Given the description of an element on the screen output the (x, y) to click on. 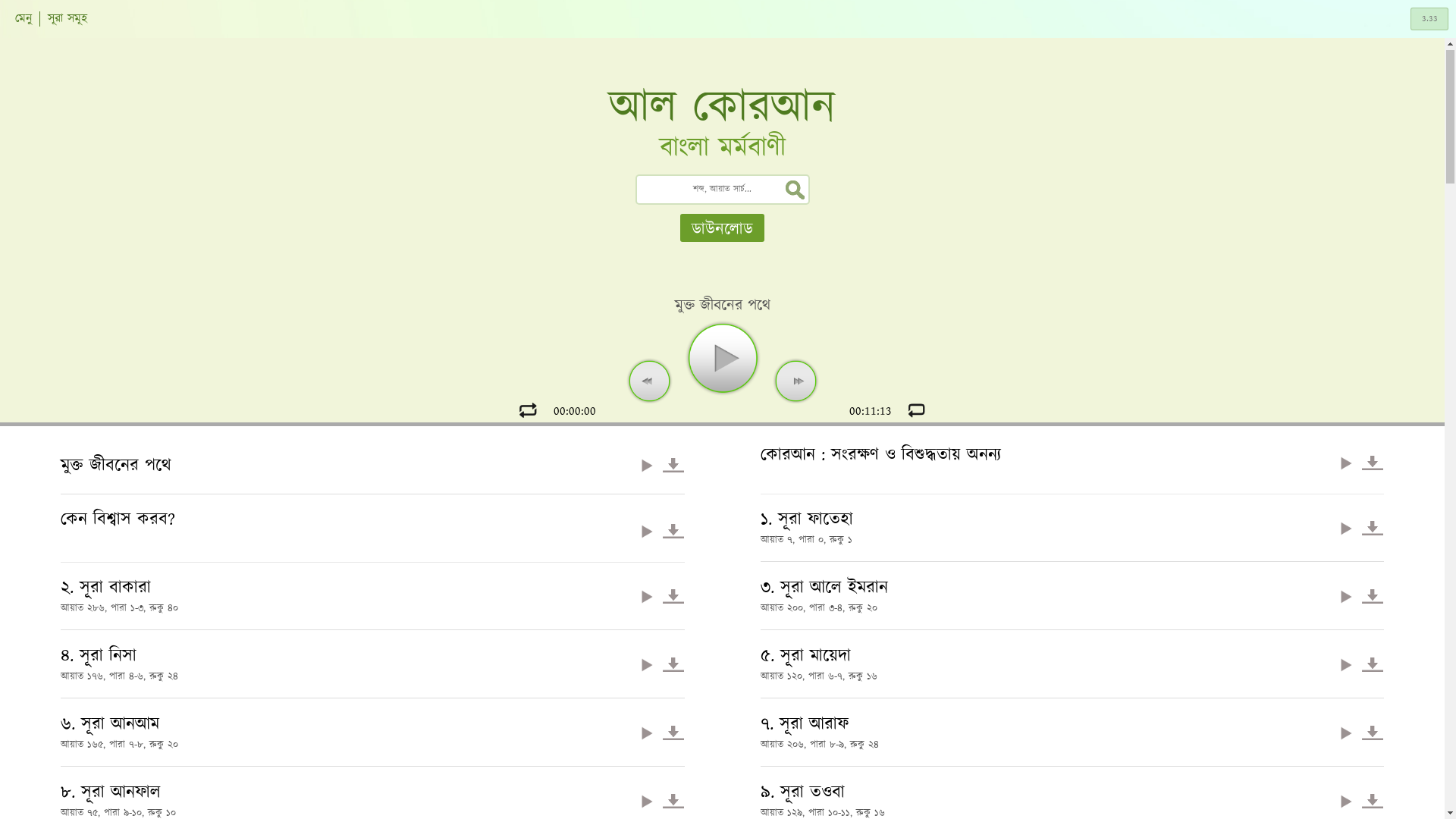
Download Element type: hover (672, 664)
Download Element type: hover (1372, 800)
Play Element type: hover (646, 664)
Play Element type: hover (1345, 800)
Download Element type: hover (1372, 732)
Play Element type: hover (646, 800)
Download Element type: hover (1372, 462)
previous surah Element type: hover (647, 380)
Play Element type: hover (646, 732)
Play Element type: hover (646, 530)
Download Element type: hover (672, 800)
track by track Element type: hover (916, 409)
Download Element type: hover (1372, 664)
Download Element type: hover (672, 595)
Play Element type: hover (646, 595)
Play Element type: hover (1345, 664)
Play Element type: hover (1345, 595)
Download Element type: hover (1372, 595)
repeat this surah Element type: hover (527, 409)
next surah Element type: hover (796, 380)
Download Element type: hover (672, 464)
Download Element type: hover (672, 732)
Download Element type: hover (672, 530)
Play Element type: hover (1345, 732)
Go Shortcut to surah ayat Element type: hover (1429, 18)
play & pause Element type: hover (721, 357)
Play Element type: hover (1345, 462)
Download Element type: hover (1372, 527)
Play Element type: hover (1345, 527)
Play Element type: hover (646, 464)
